Given the description of an element on the screen output the (x, y) to click on. 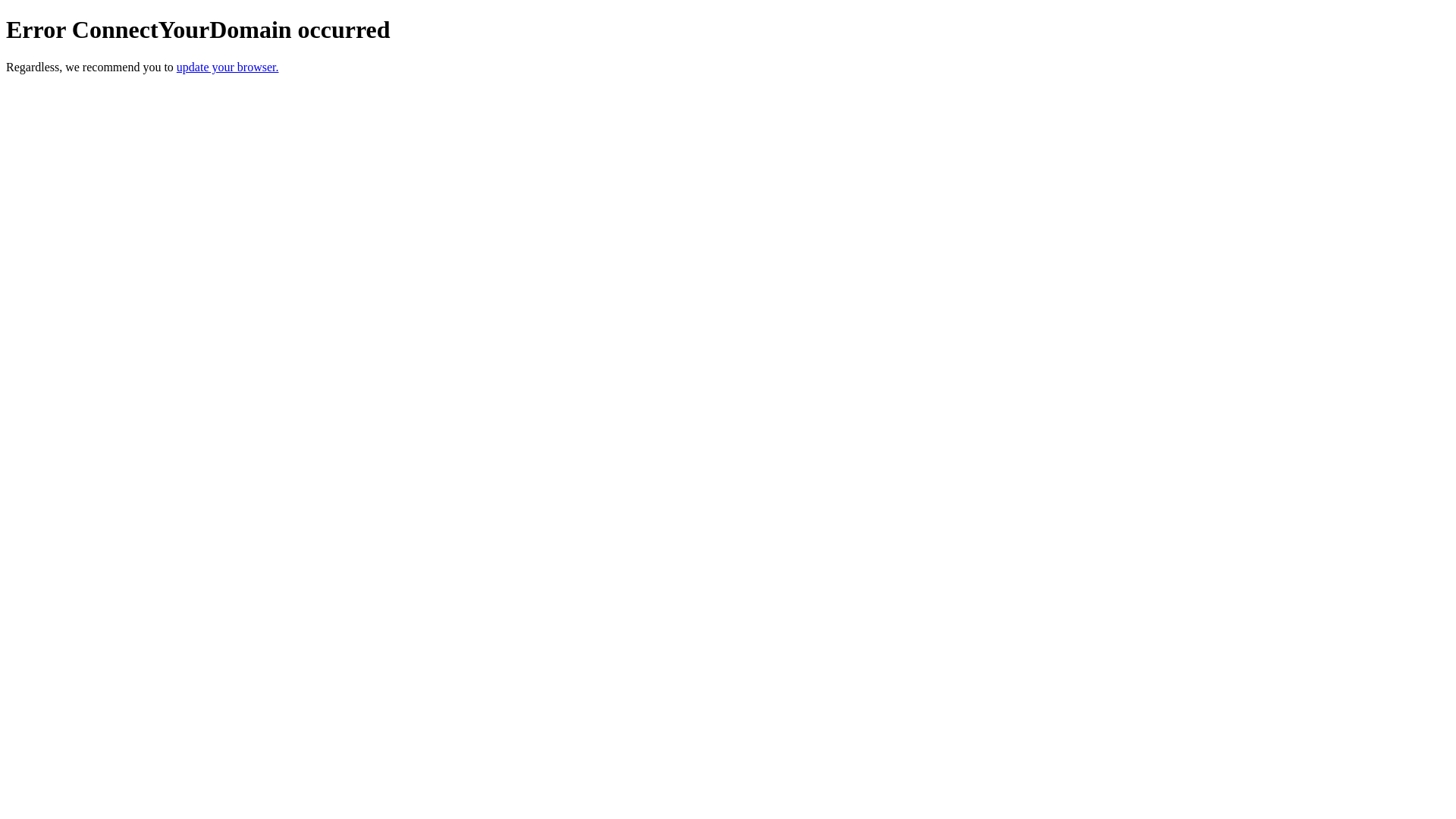
update your browser. Element type: text (227, 66)
